Given the description of an element on the screen output the (x, y) to click on. 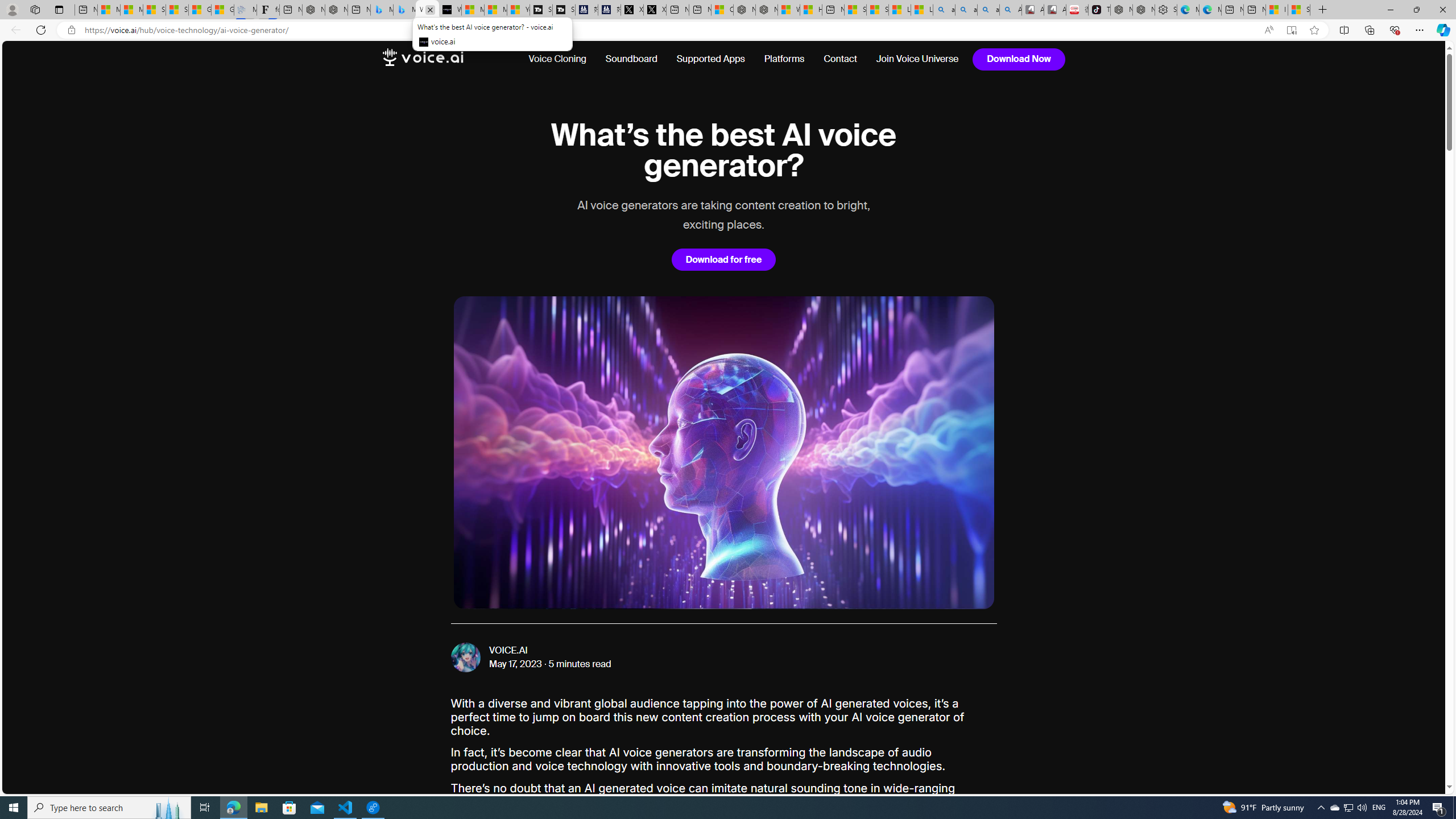
Streaming Coverage | T3 (541, 9)
